Given the description of an element on the screen output the (x, y) to click on. 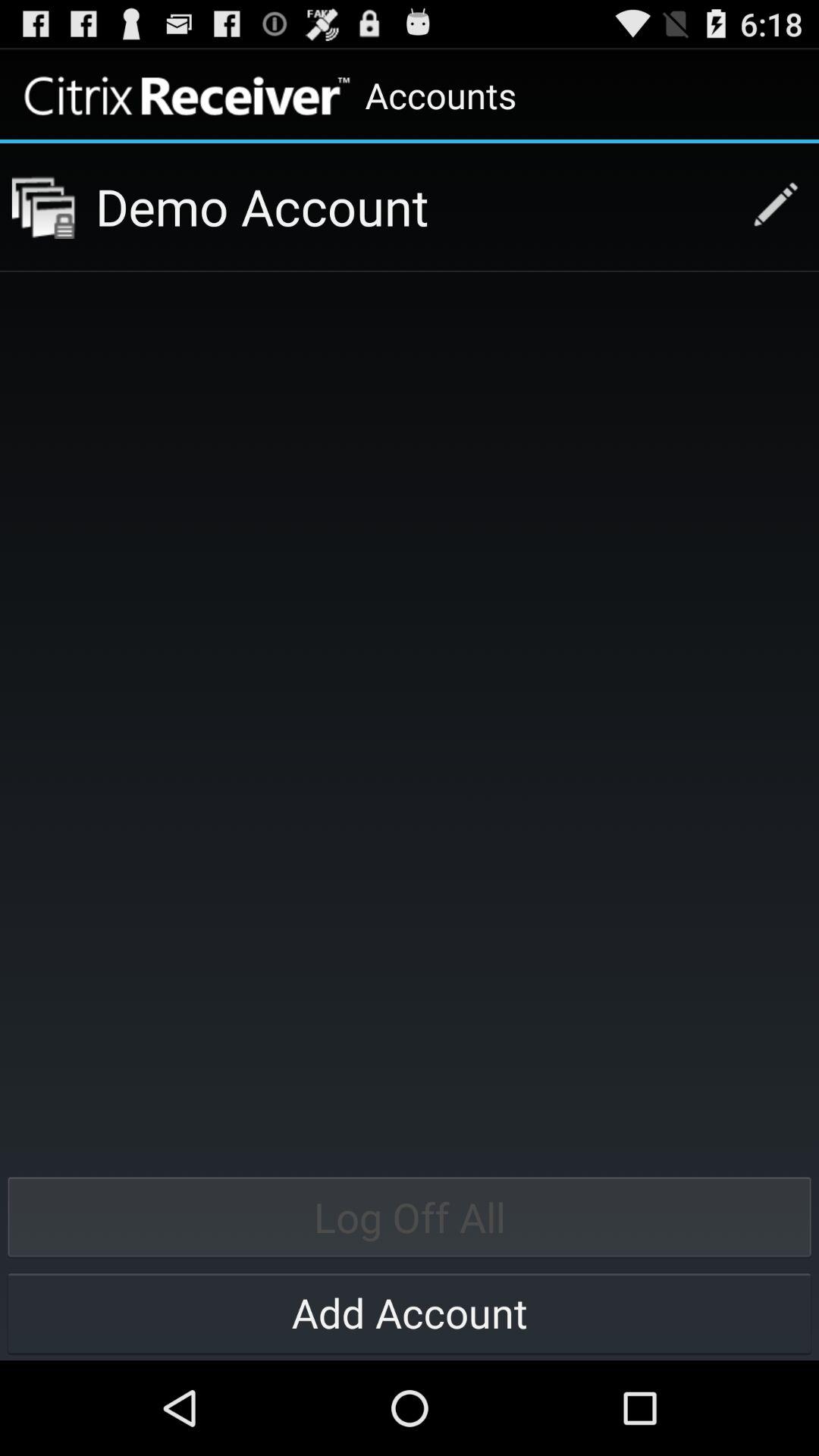
edit (768, 206)
